Given the description of an element on the screen output the (x, y) to click on. 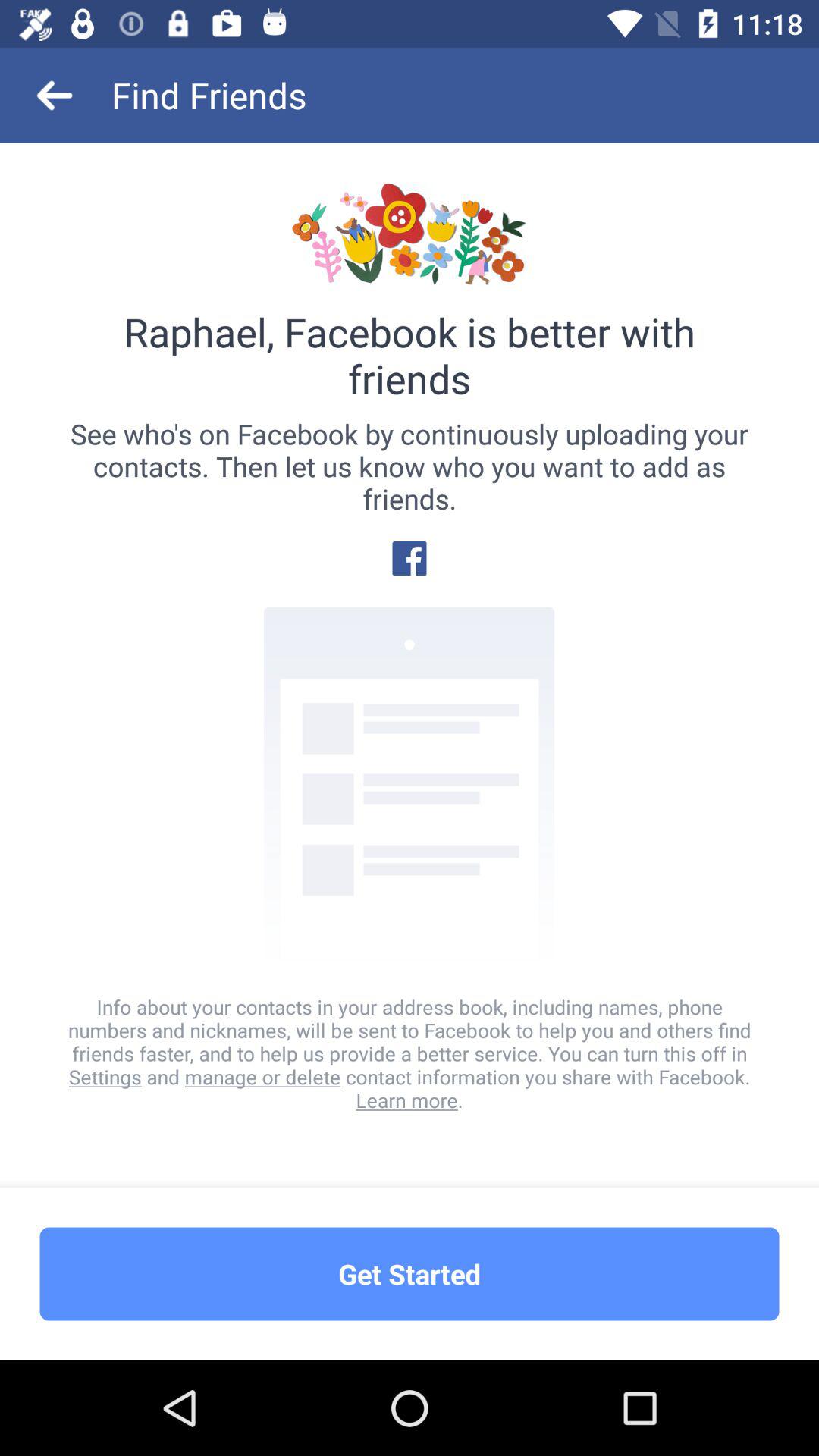
select the item above the raphael facebook is item (55, 95)
